Given the description of an element on the screen output the (x, y) to click on. 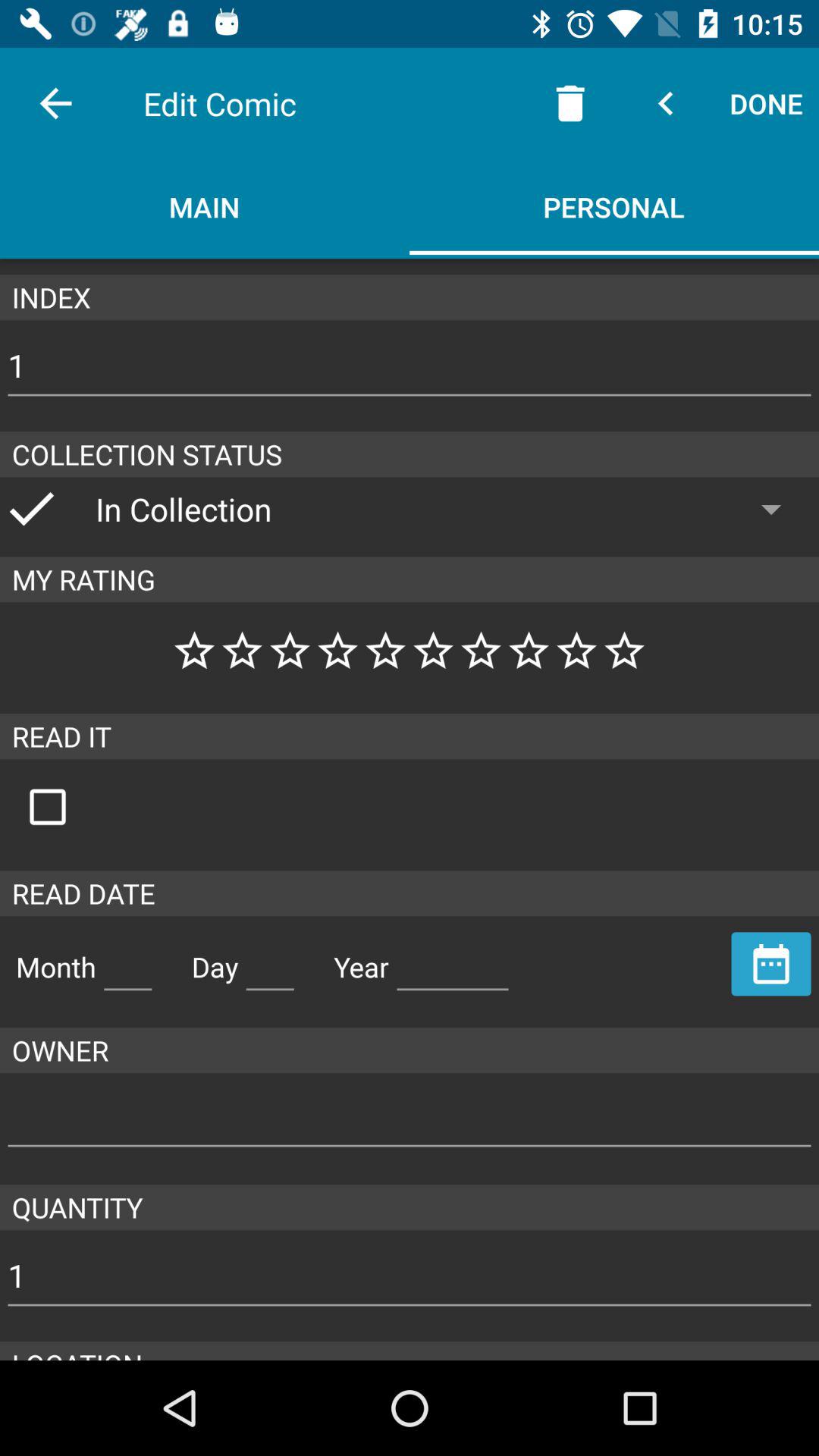
enter text (270, 961)
